Given the description of an element on the screen output the (x, y) to click on. 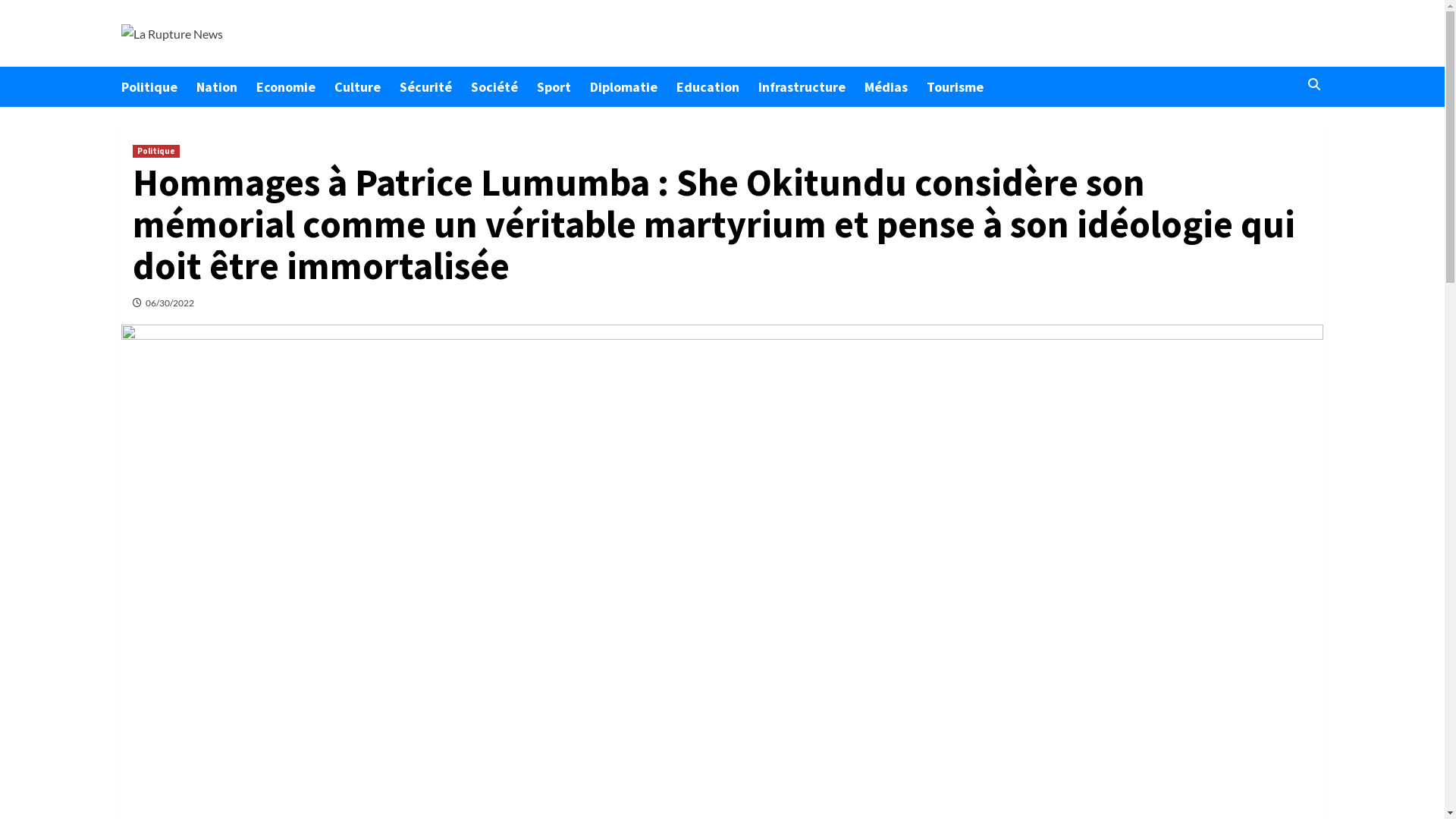
06/30/2022 Element type: text (169, 302)
Politique Element type: text (155, 150)
Search Element type: hover (1313, 85)
Rechercher Element type: text (1278, 132)
Diplomatie Element type: text (632, 86)
Infrastructure Element type: text (811, 86)
Politique Element type: text (158, 86)
Tourisme Element type: text (964, 86)
Economie Element type: text (295, 86)
Culture Element type: text (366, 86)
Education Element type: text (717, 86)
Sport Element type: text (562, 86)
Nation Element type: text (226, 86)
